Given the description of an element on the screen output the (x, y) to click on. 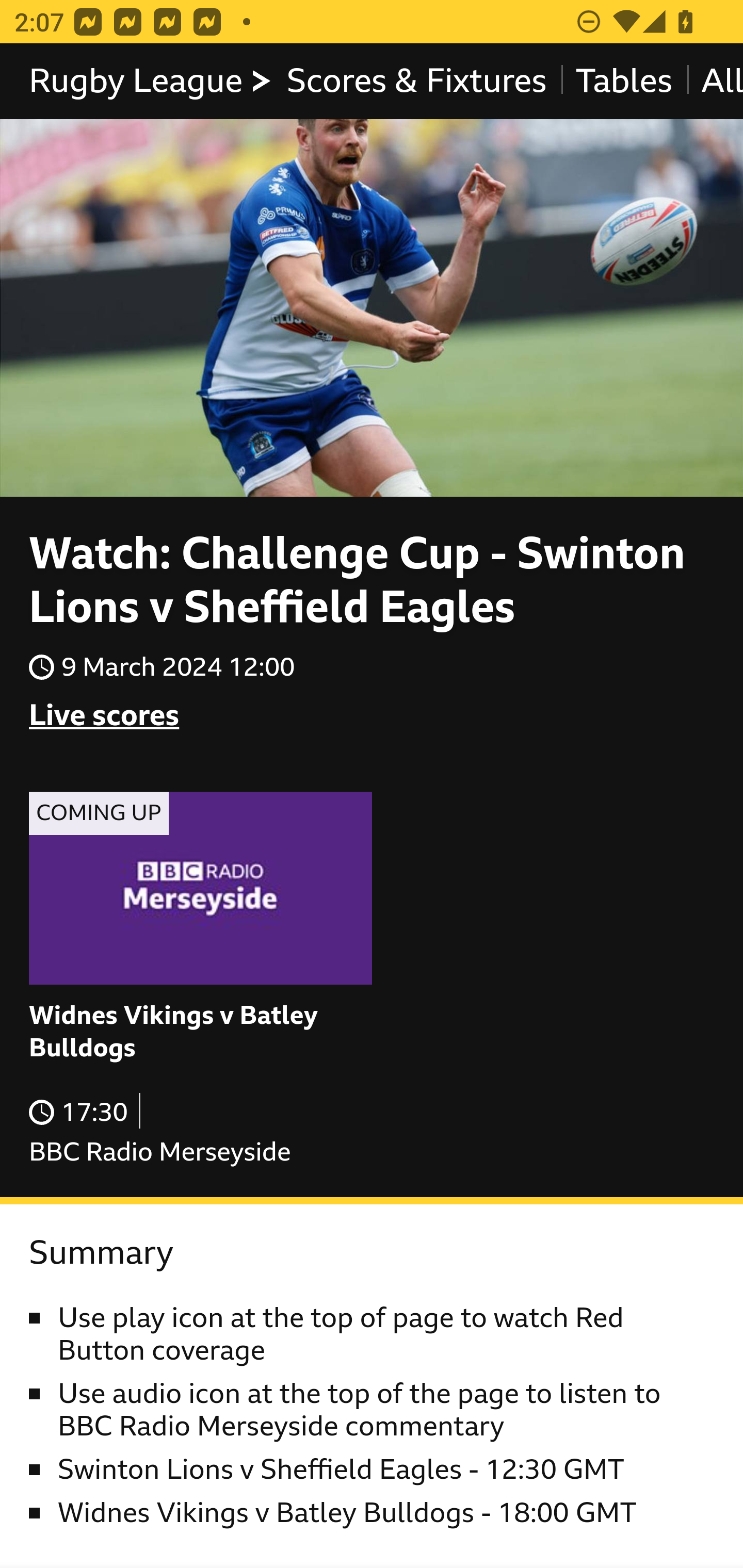
Rugby League  (150, 81)
Scores & Fixtures (416, 81)
Tables (623, 81)
Live scores (104, 715)
